Given the description of an element on the screen output the (x, y) to click on. 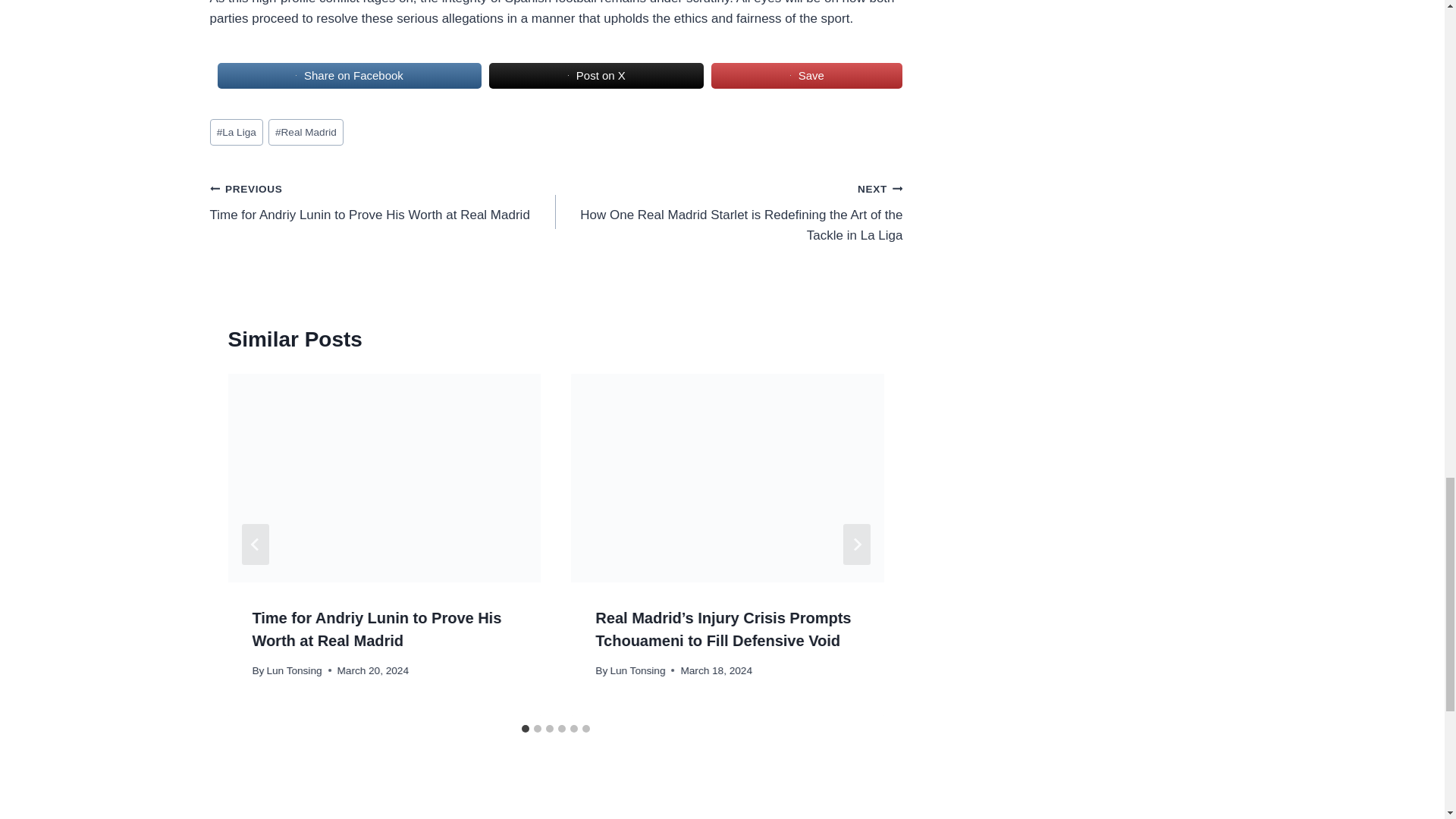
Real Madrid (305, 131)
Share on Facebook (348, 75)
La Liga (235, 131)
Save (806, 75)
Post on X (596, 75)
